Given the description of an element on the screen output the (x, y) to click on. 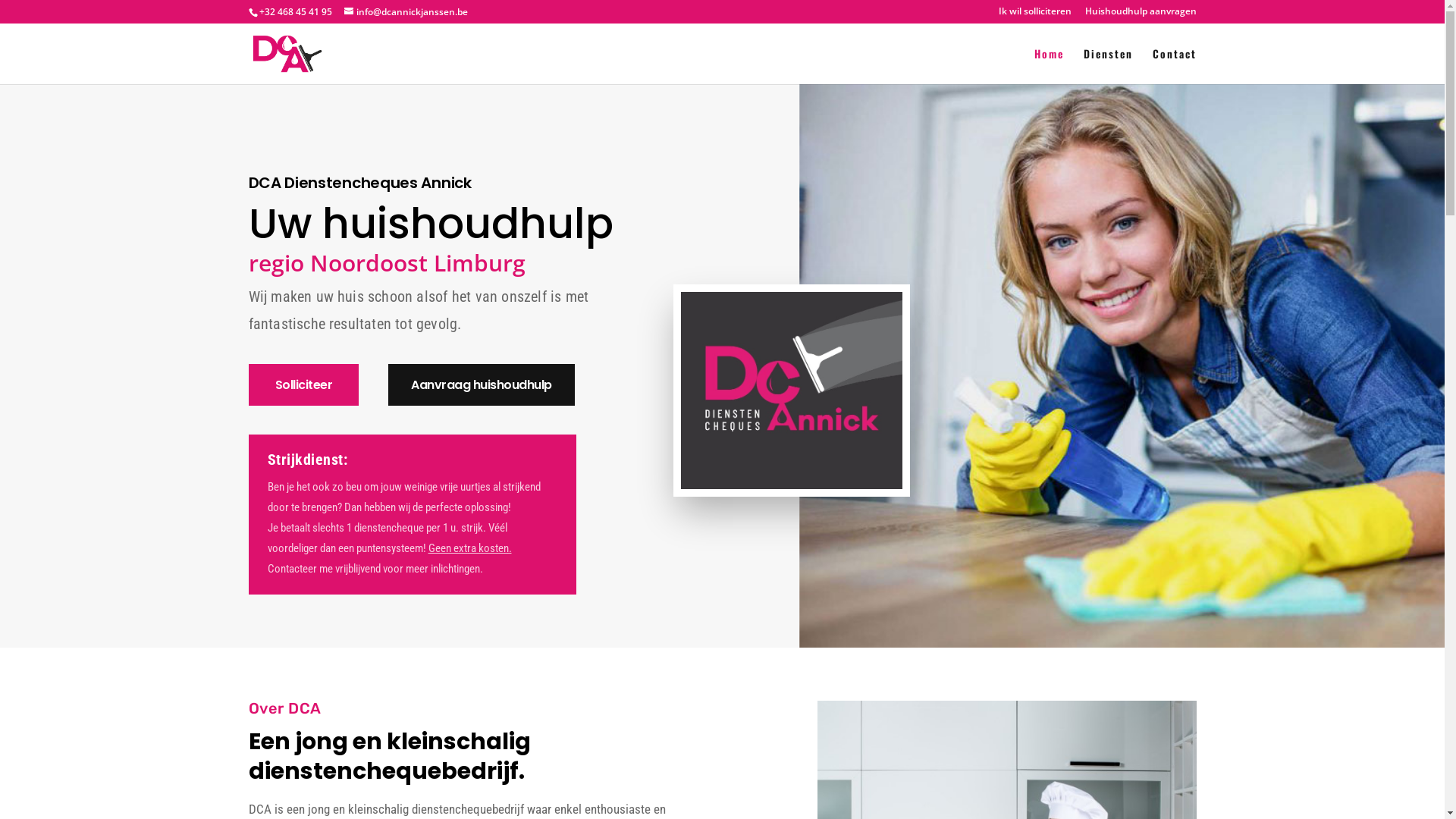
Ik wil solliciteren Element type: text (1033, 14)
Diensten Element type: text (1107, 66)
Huishoudhulp aanvragen Element type: text (1139, 14)
Solliciteer Element type: text (303, 384)
Home Element type: text (1048, 66)
Contact Element type: text (1174, 66)
Aanvraag huishoudhulp Element type: text (481, 384)
info@dcannickjanssen.be Element type: text (405, 11)
